Given the description of an element on the screen output the (x, y) to click on. 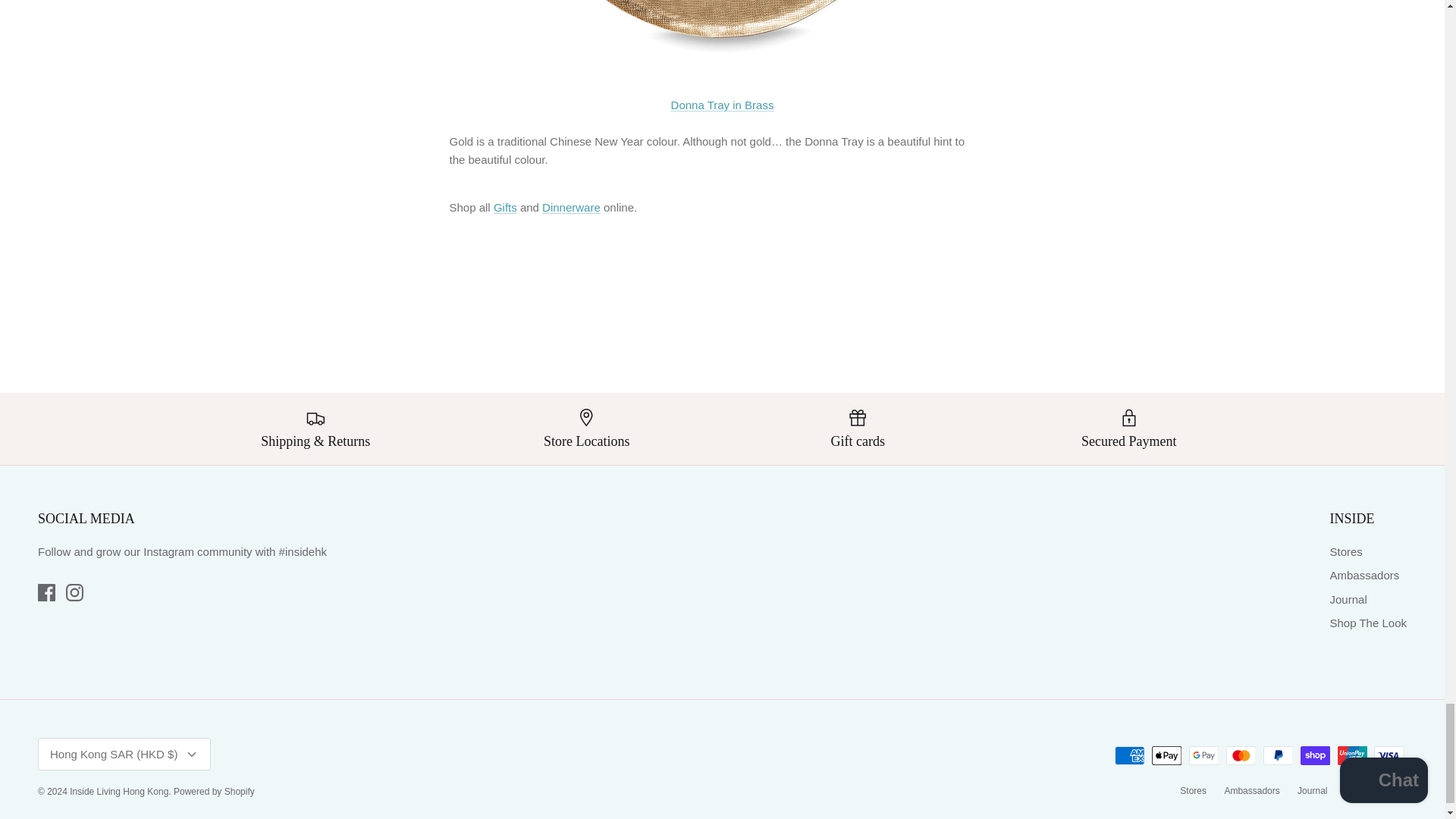
Down (191, 754)
American Express (1129, 755)
Apple Pay (1166, 755)
PayPal (1277, 755)
Visa (1388, 755)
Google Pay (1203, 755)
Instagram (73, 592)
Mastercard (1240, 755)
Facebook (46, 592)
Union Pay (1352, 755)
